Given the description of an element on the screen output the (x, y) to click on. 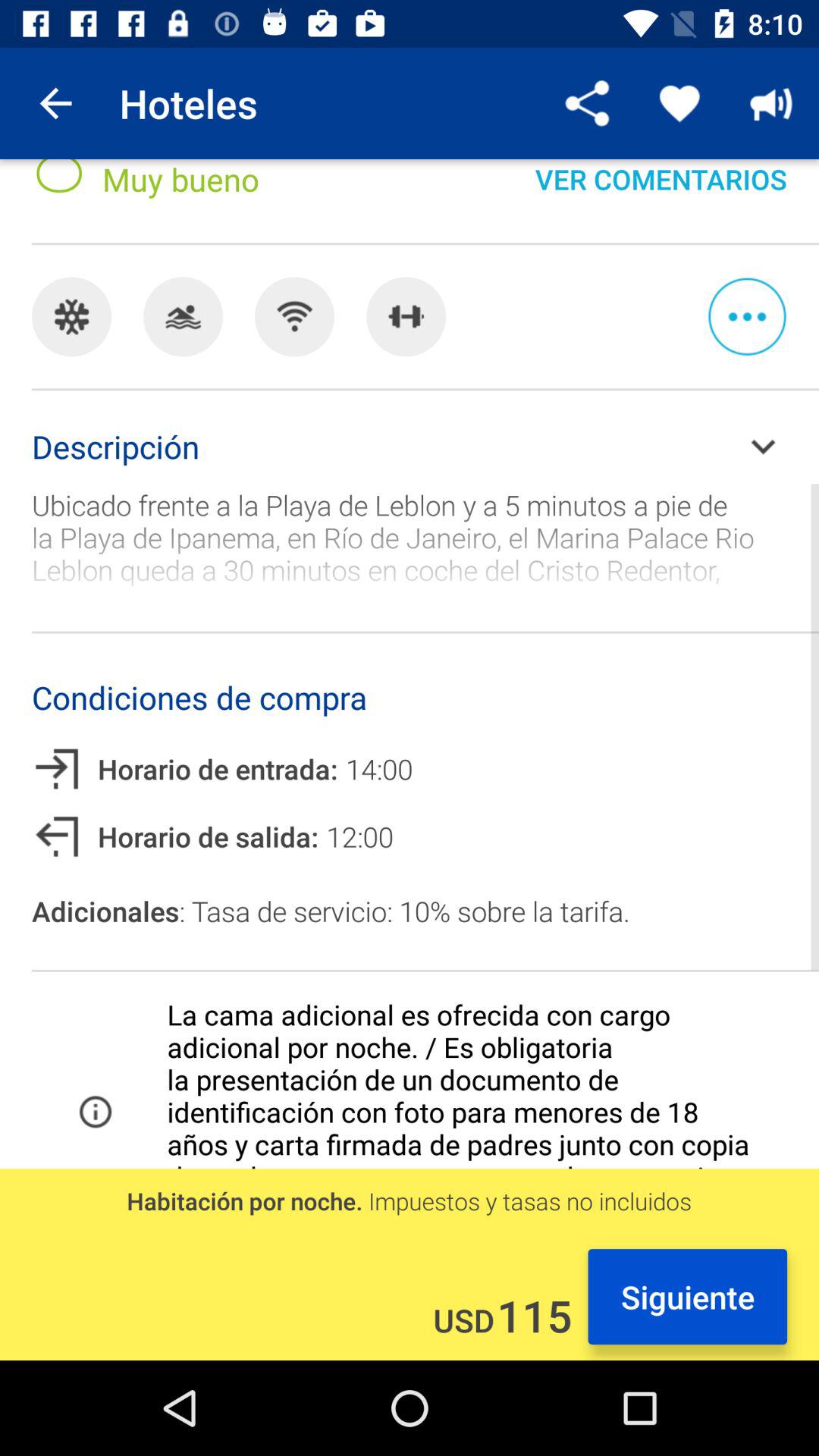
tap the item above ver comentarios (587, 103)
